Given the description of an element on the screen output the (x, y) to click on. 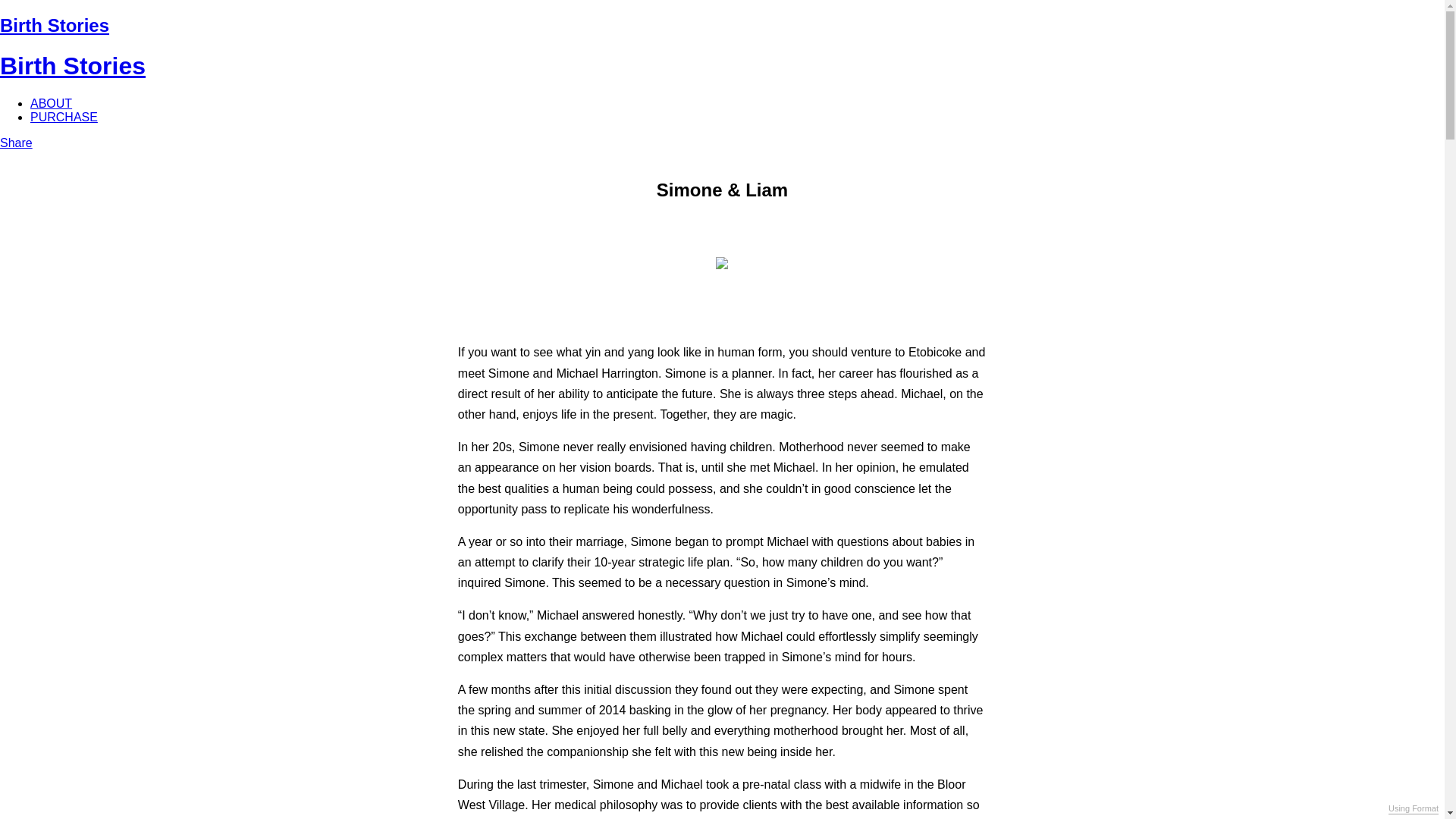
Share Element type: text (16, 142)
ABOUT Element type: text (51, 103)
Birth Stories Element type: text (54, 25)
PURCHASE Element type: text (63, 116)
Using Format Element type: text (1413, 808)
Birth Stories Element type: text (72, 65)
